Given the description of an element on the screen output the (x, y) to click on. 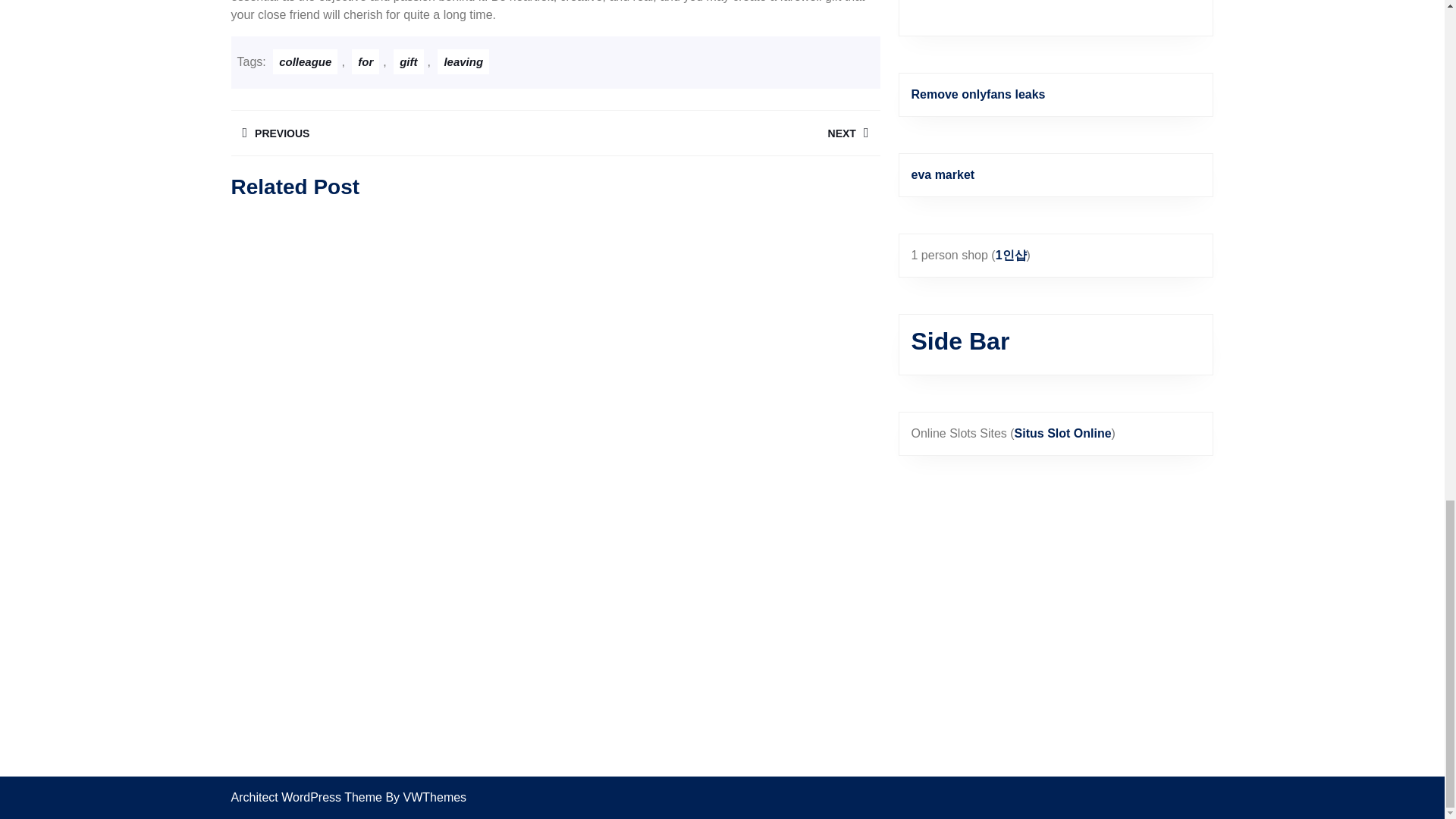
gift (392, 132)
leaving (716, 132)
for (408, 61)
colleague (463, 61)
